Given the description of an element on the screen output the (x, y) to click on. 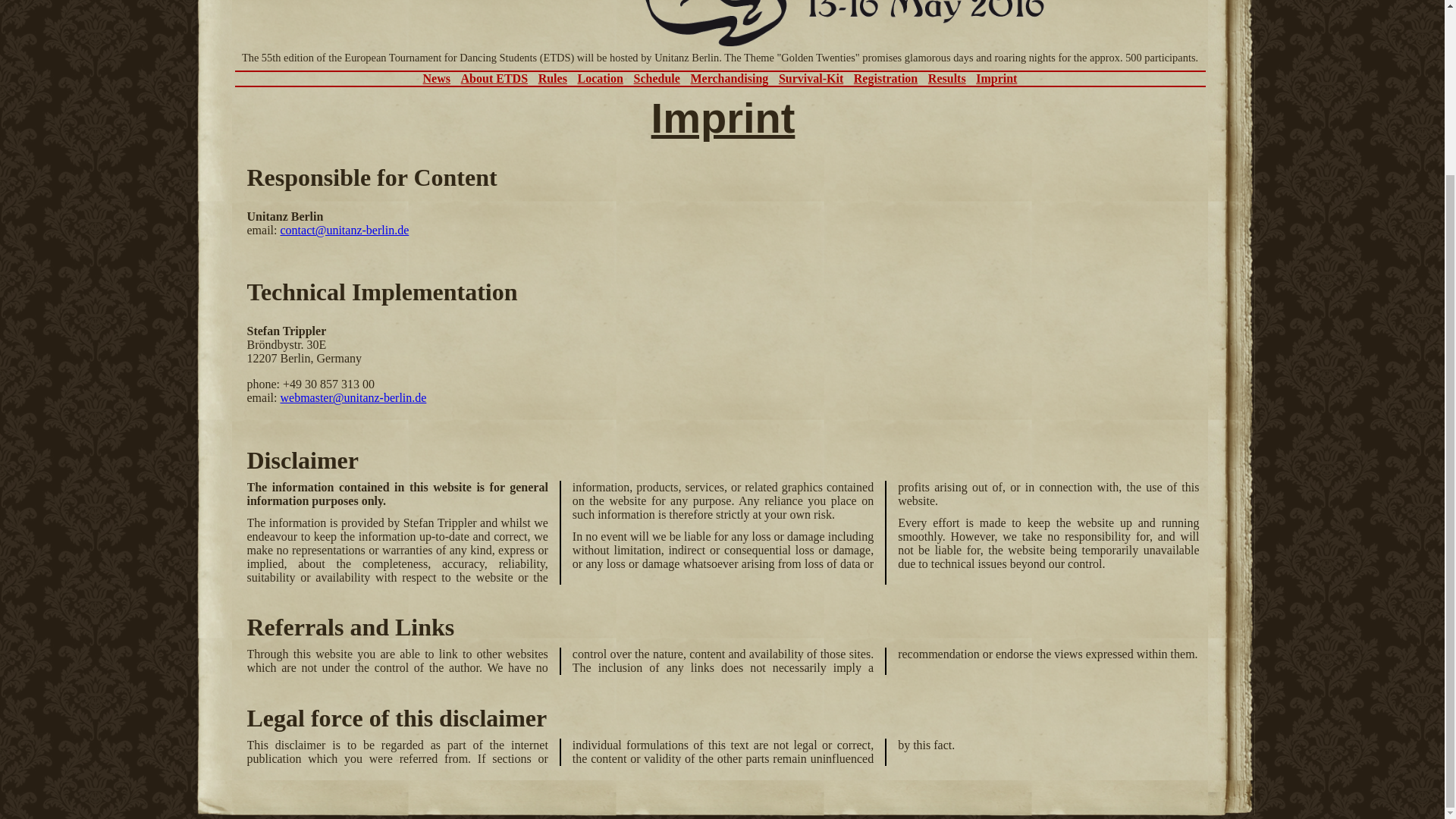
Registration (885, 78)
News (436, 78)
About ETDS (494, 78)
Survival-Kit (810, 78)
Merchandising (729, 78)
Results (947, 78)
Schedule (656, 78)
Location (599, 78)
Rules (552, 78)
Imprint (995, 78)
